Given the description of an element on the screen output the (x, y) to click on. 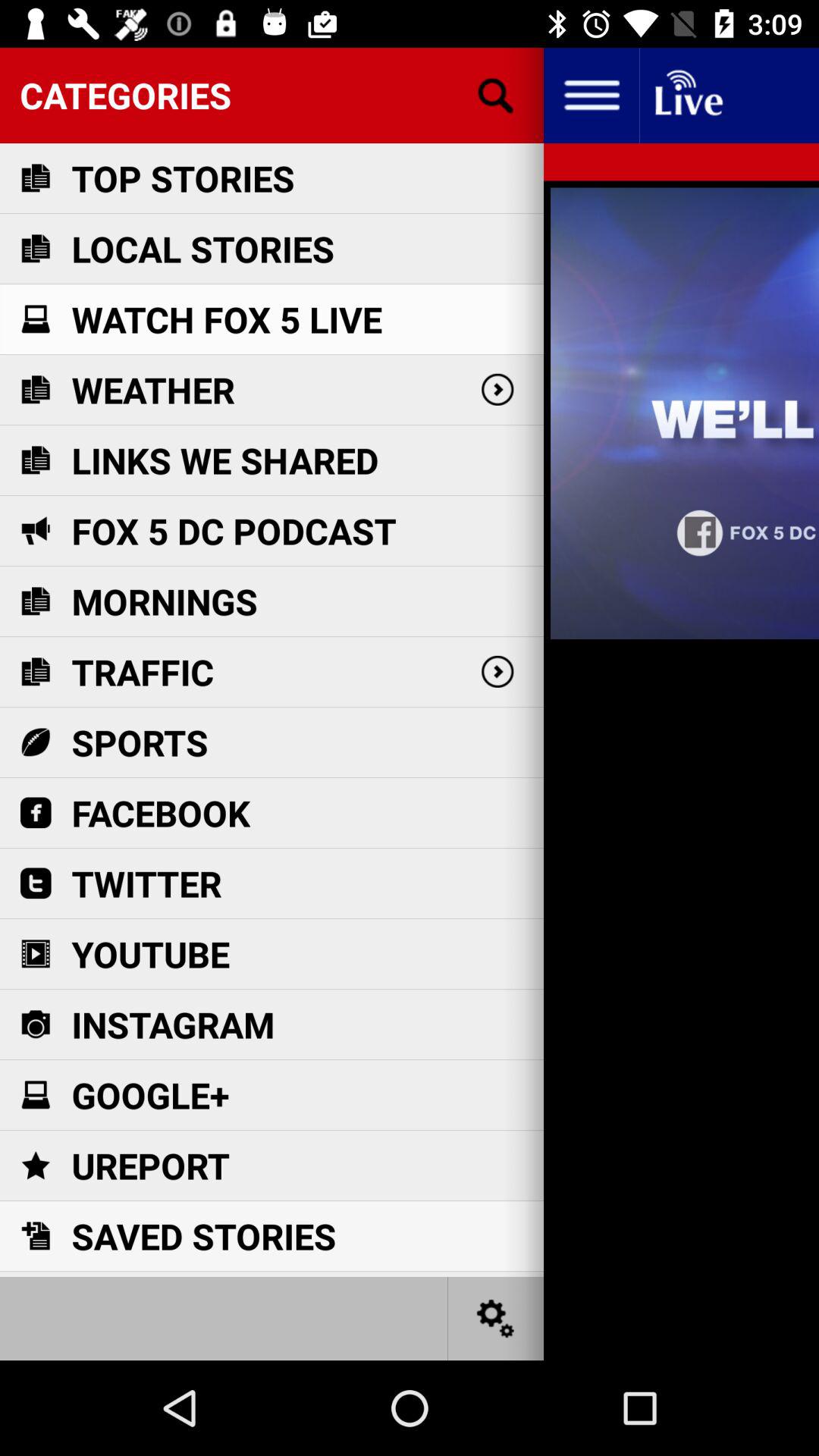
choose the icon below weather item (224, 460)
